Given the description of an element on the screen output the (x, y) to click on. 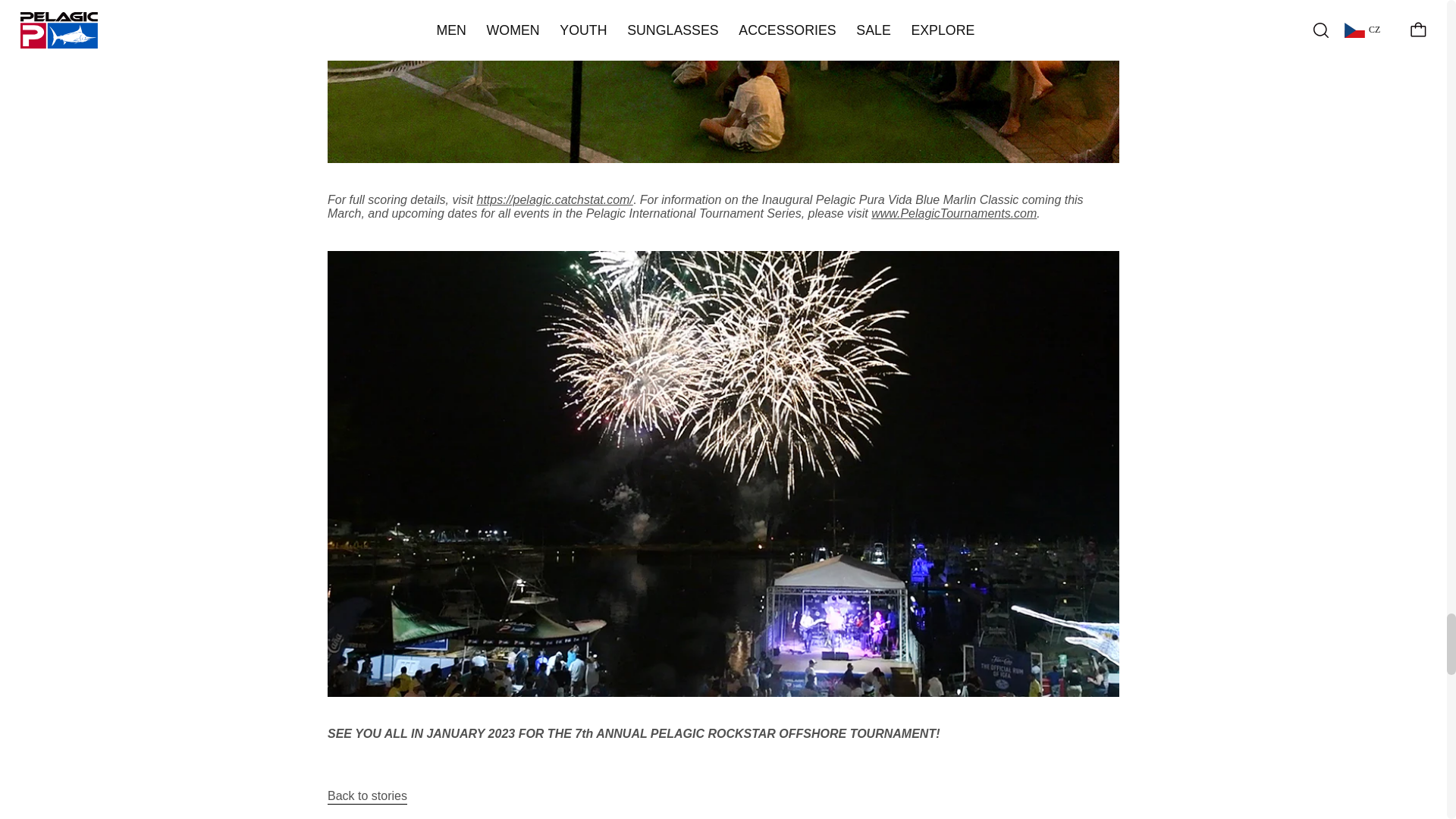
Pelagic Tournaments (953, 213)
